Given the description of an element on the screen output the (x, y) to click on. 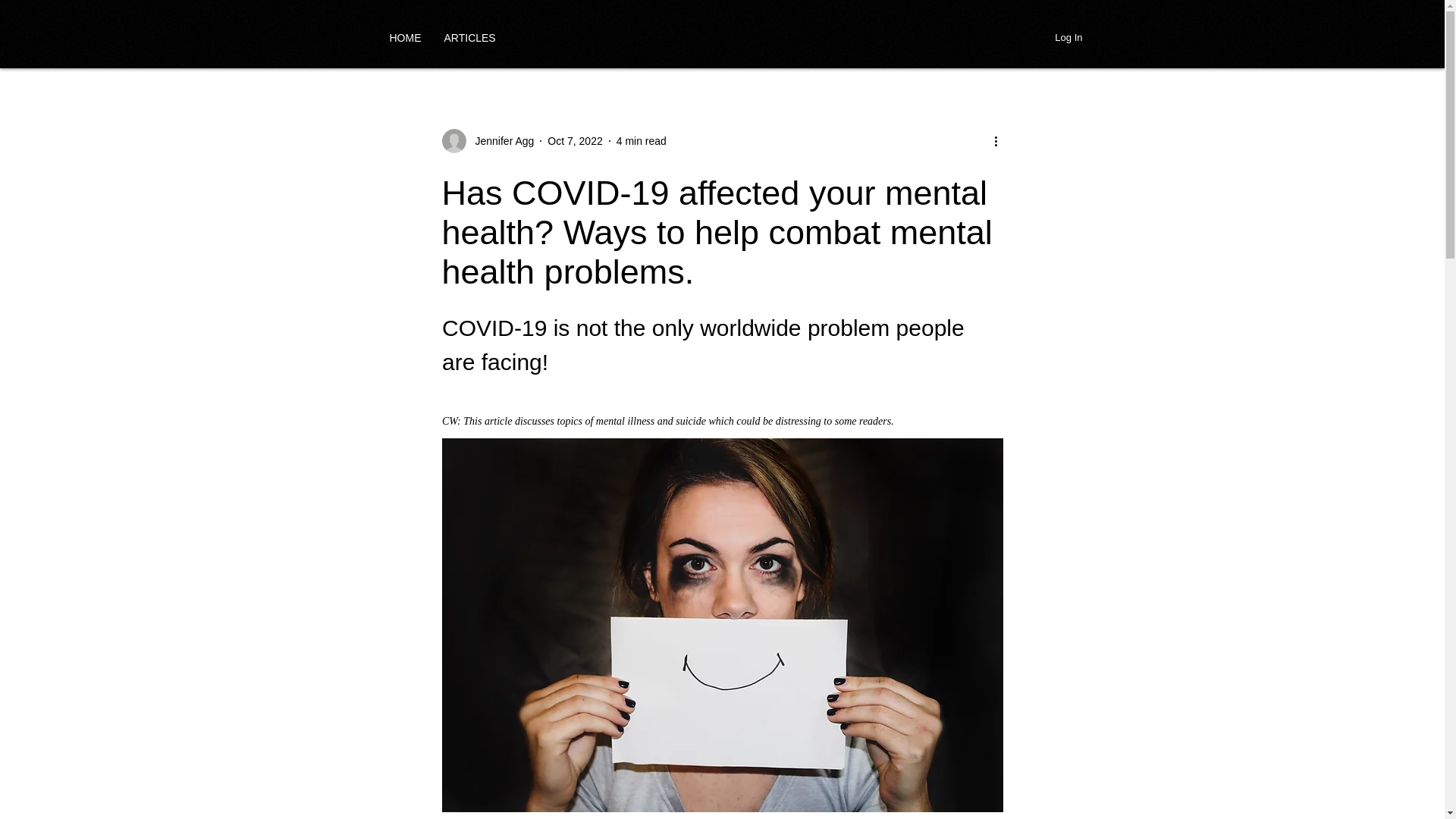
4 min read (640, 141)
ARTICLES (468, 37)
Jennifer Agg (487, 140)
Oct 7, 2022 (574, 141)
Jennifer Agg (499, 141)
Log In (1068, 37)
HOME (404, 37)
